Given the description of an element on the screen output the (x, y) to click on. 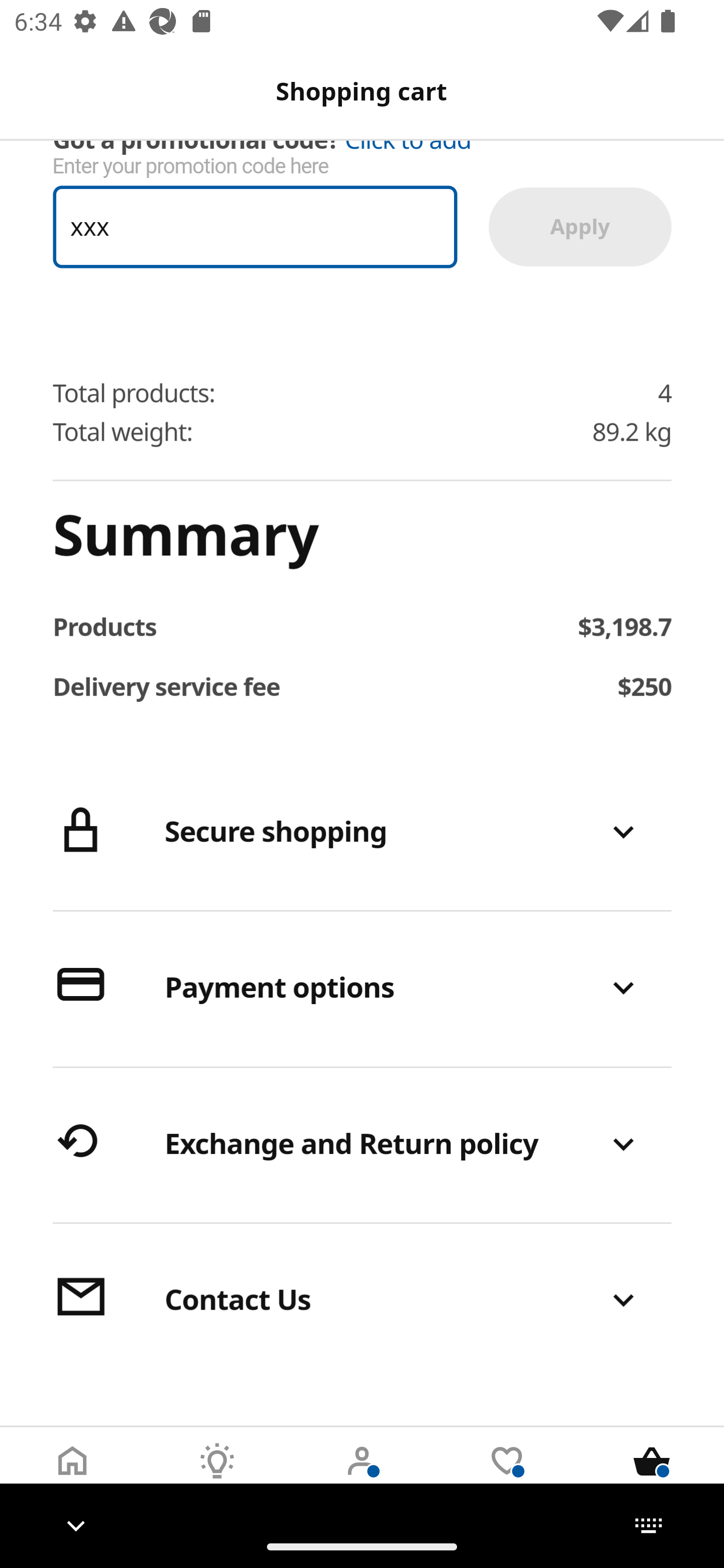
Home
Tab 1 of 5 (72, 1476)
Inspirations
Tab 2 of 5 (216, 1476)
User
Tab 3 of 5 (361, 1476)
Wishlist
Tab 4 of 5 (506, 1476)
Cart
Tab 5 of 5 (651, 1476)
